Given the description of an element on the screen output the (x, y) to click on. 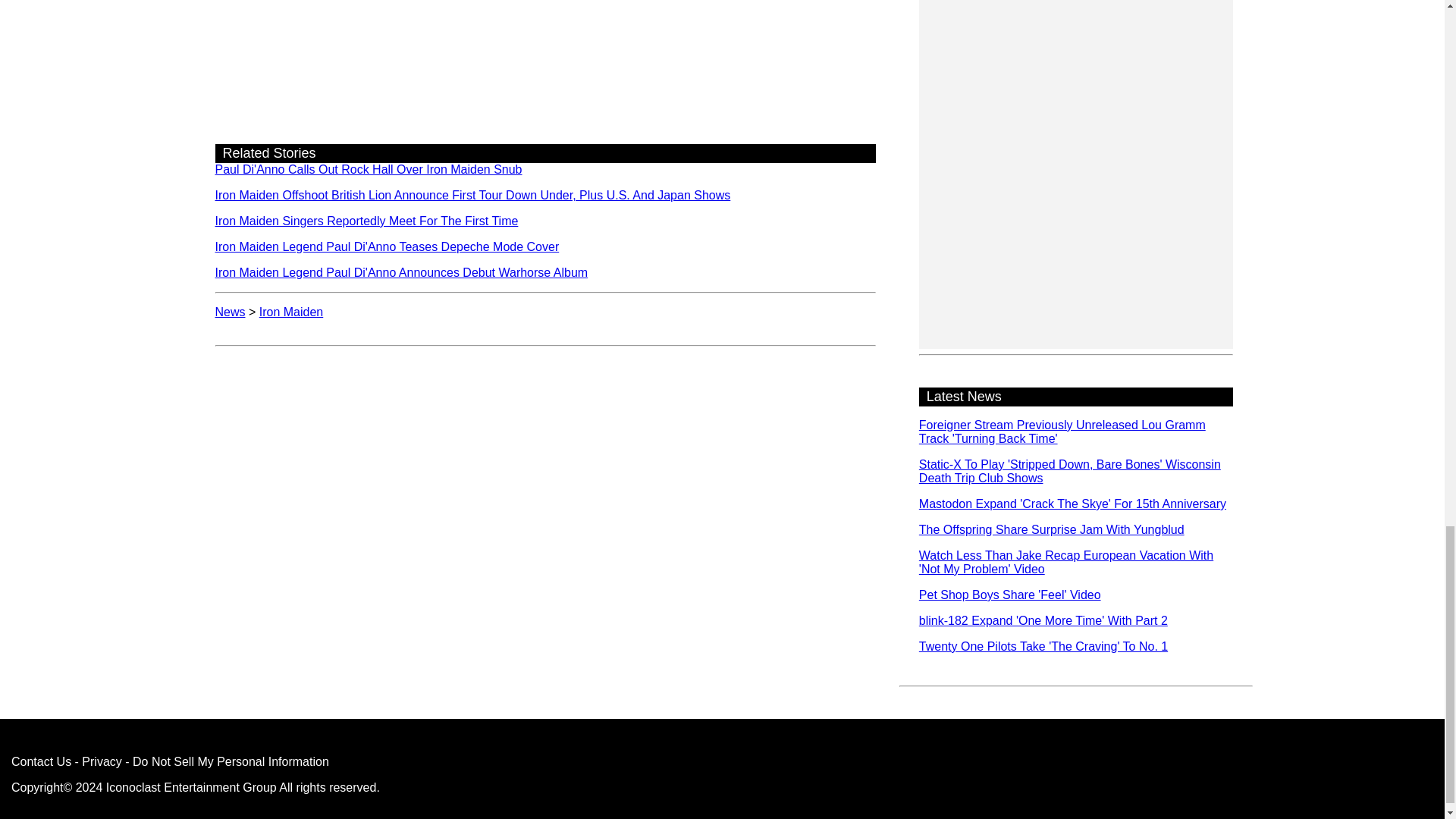
Paul Di'Anno Calls Out Rock Hall Over Iron Maiden Snub (368, 169)
Iron Maiden Singers Reportedly Meet For The First Time (366, 220)
The Offspring Share Surprise Jam With Yungblud (1051, 529)
Mastodon Expand 'Crack The Skye' For 15th Anniversary (1071, 503)
Privacy - Do Not Sell My Personal Information (205, 761)
News (230, 311)
Twenty One Pilots Take 'The Craving' To No. 1 (1042, 645)
